Given the description of an element on the screen output the (x, y) to click on. 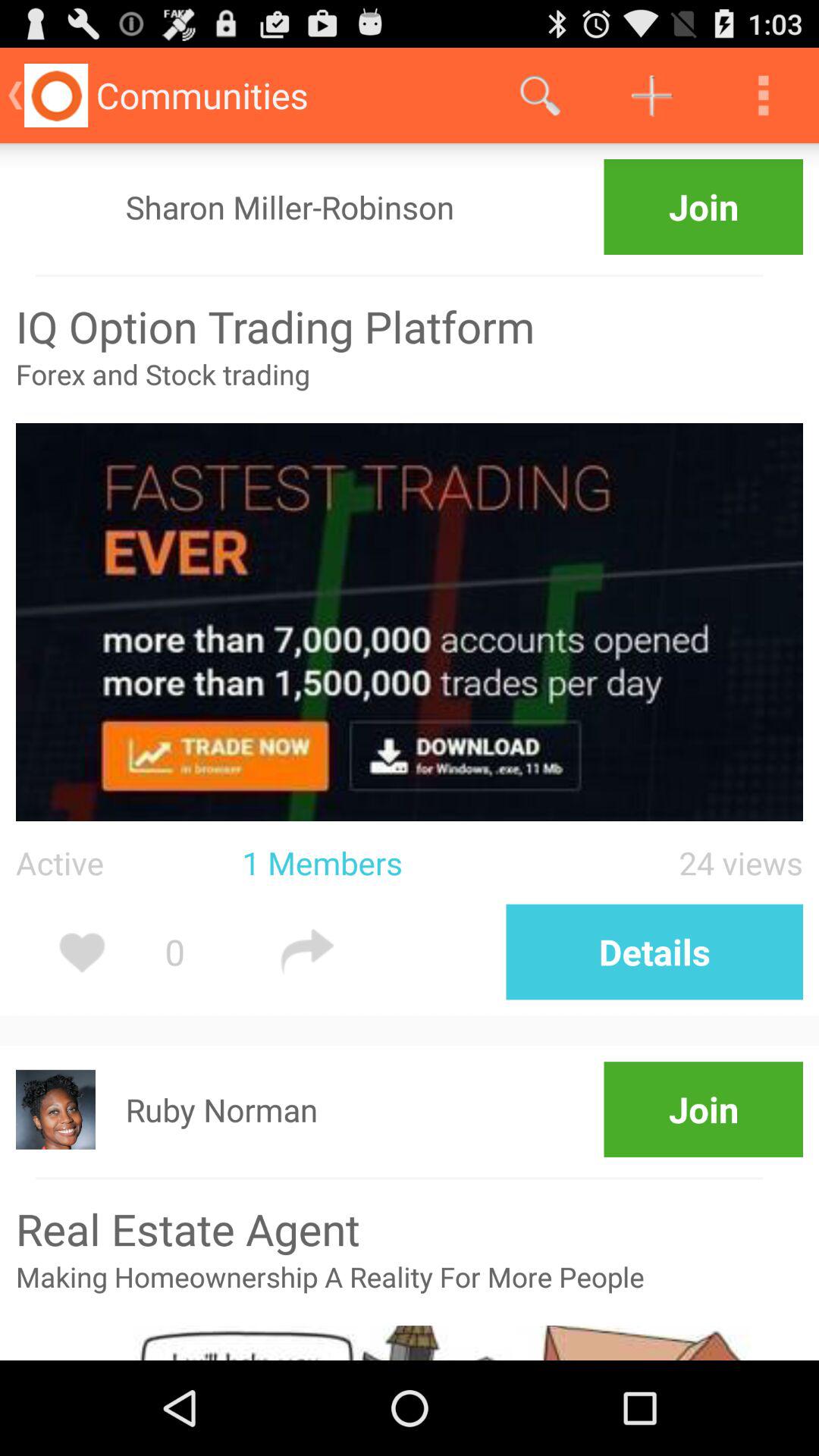
open icon above the iq option trading item (399, 275)
